Given the description of an element on the screen output the (x, y) to click on. 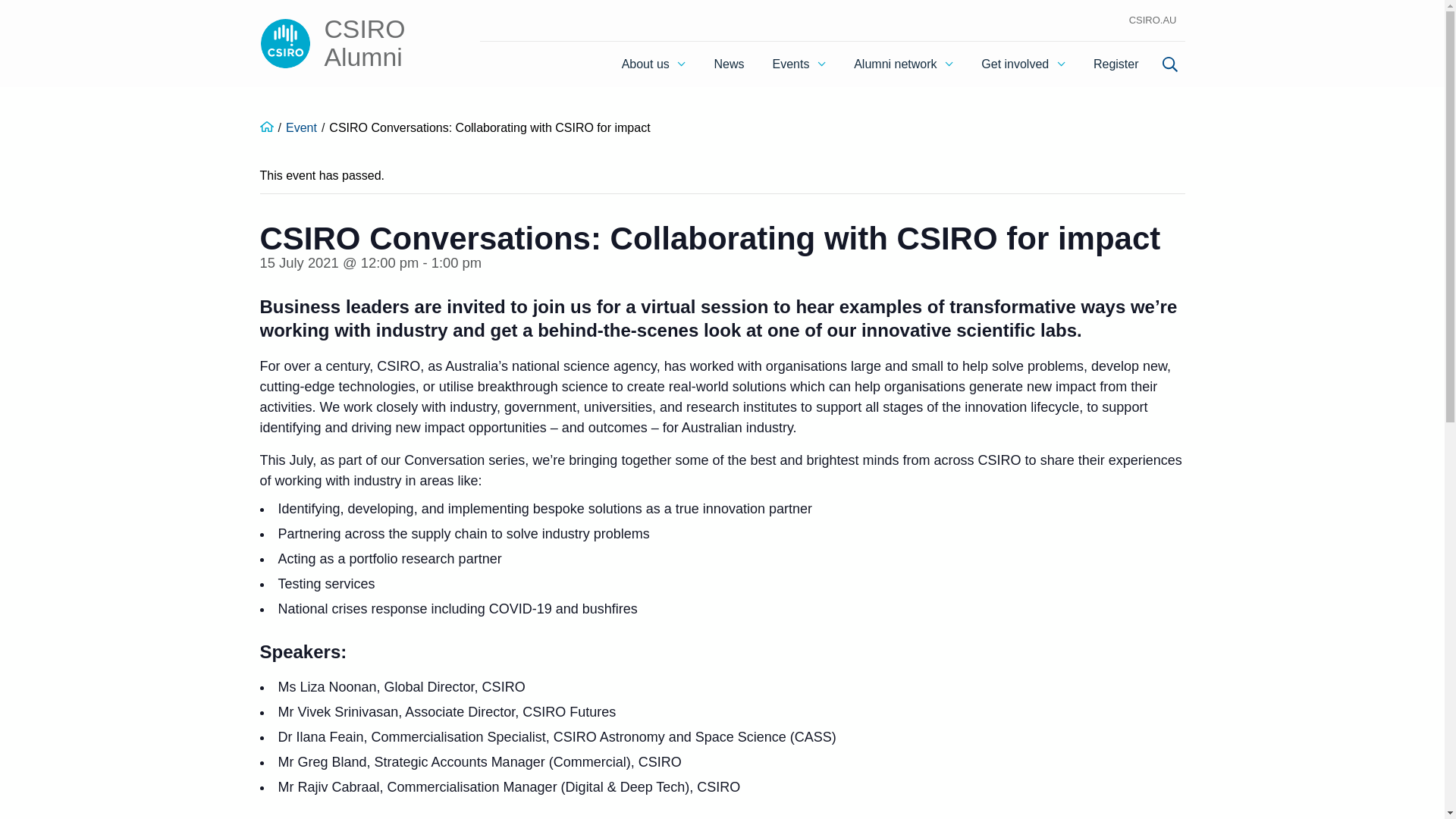
News (729, 64)
CSIRO Alumni (346, 42)
Get involved (1023, 64)
About us (654, 64)
Alumni network (903, 64)
CSIRO.AU (1153, 20)
Events (799, 64)
